Given the description of an element on the screen output the (x, y) to click on. 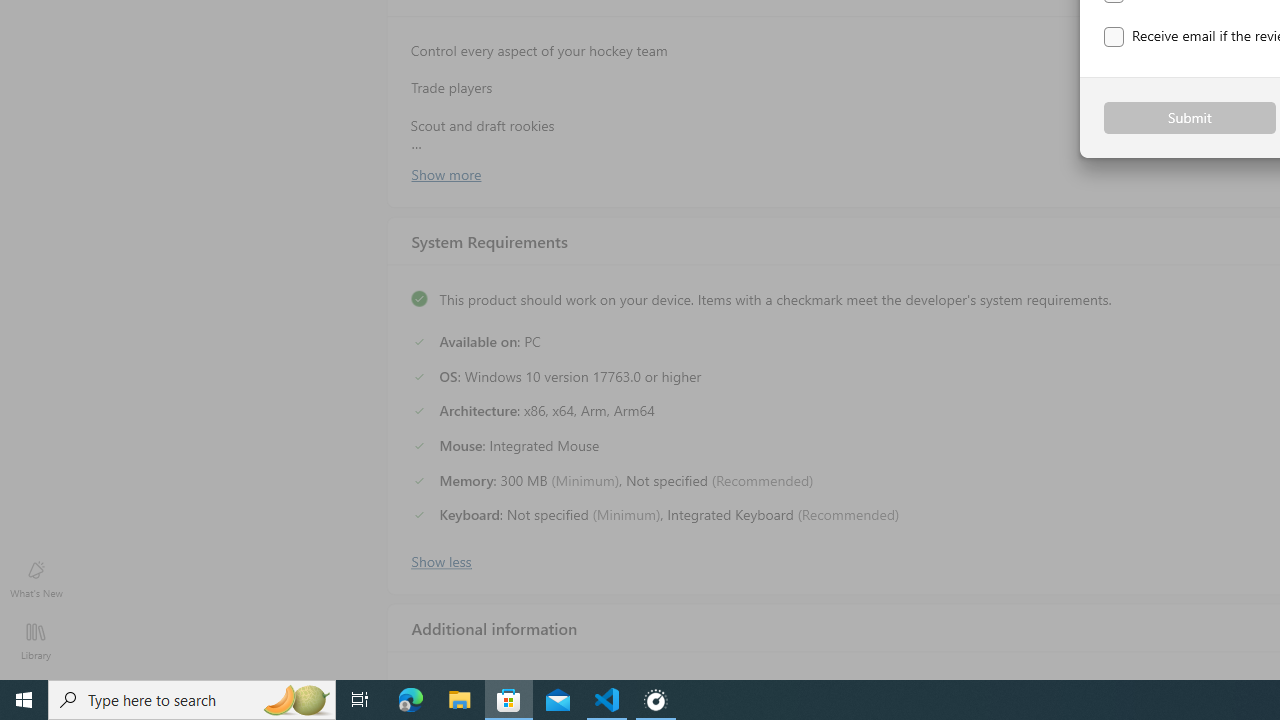
Show less (440, 559)
Show more (445, 173)
Submit (1189, 117)
